Given the description of an element on the screen output the (x, y) to click on. 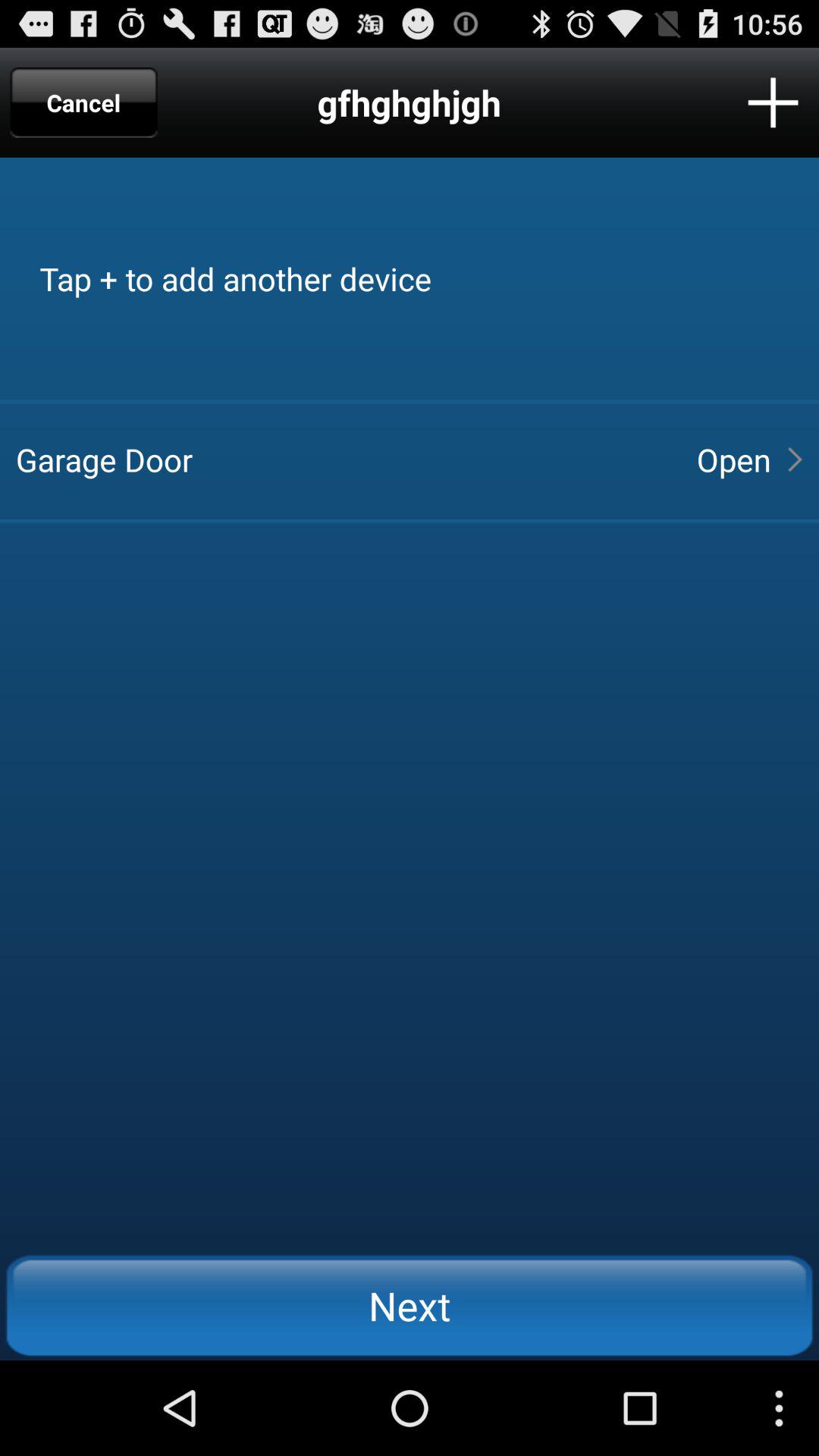
turn off button above the next button (733, 459)
